Given the description of an element on the screen output the (x, y) to click on. 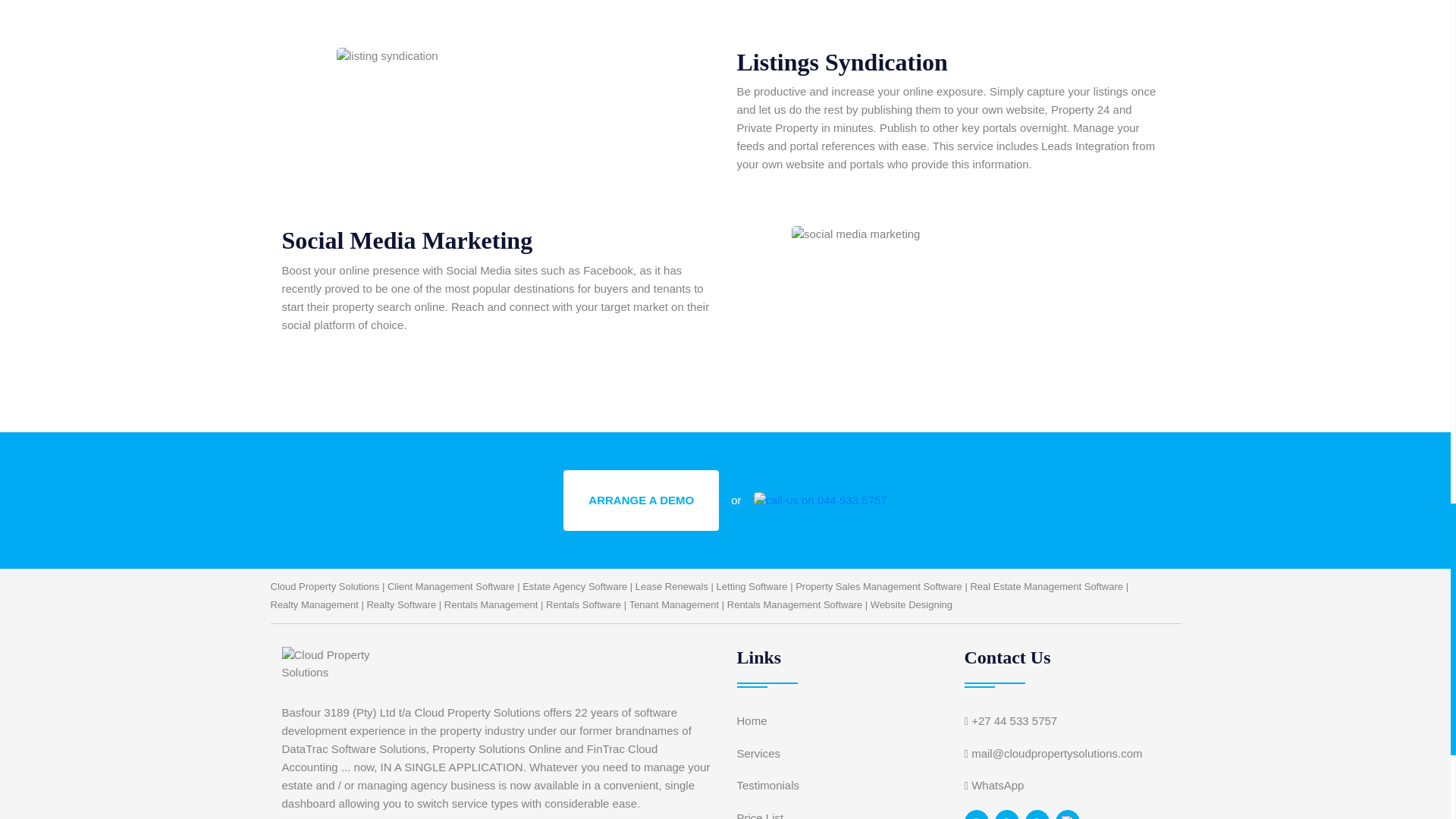
Lease Renewals (670, 587)
Testimonials (767, 785)
Property Sales Management Software (878, 587)
Estate Agency Software (574, 587)
Website Designing (911, 605)
Rentals Management Software (793, 605)
Home (751, 721)
Client Management Software (451, 587)
Rentals Software (583, 605)
Services (758, 753)
